Given the description of an element on the screen output the (x, y) to click on. 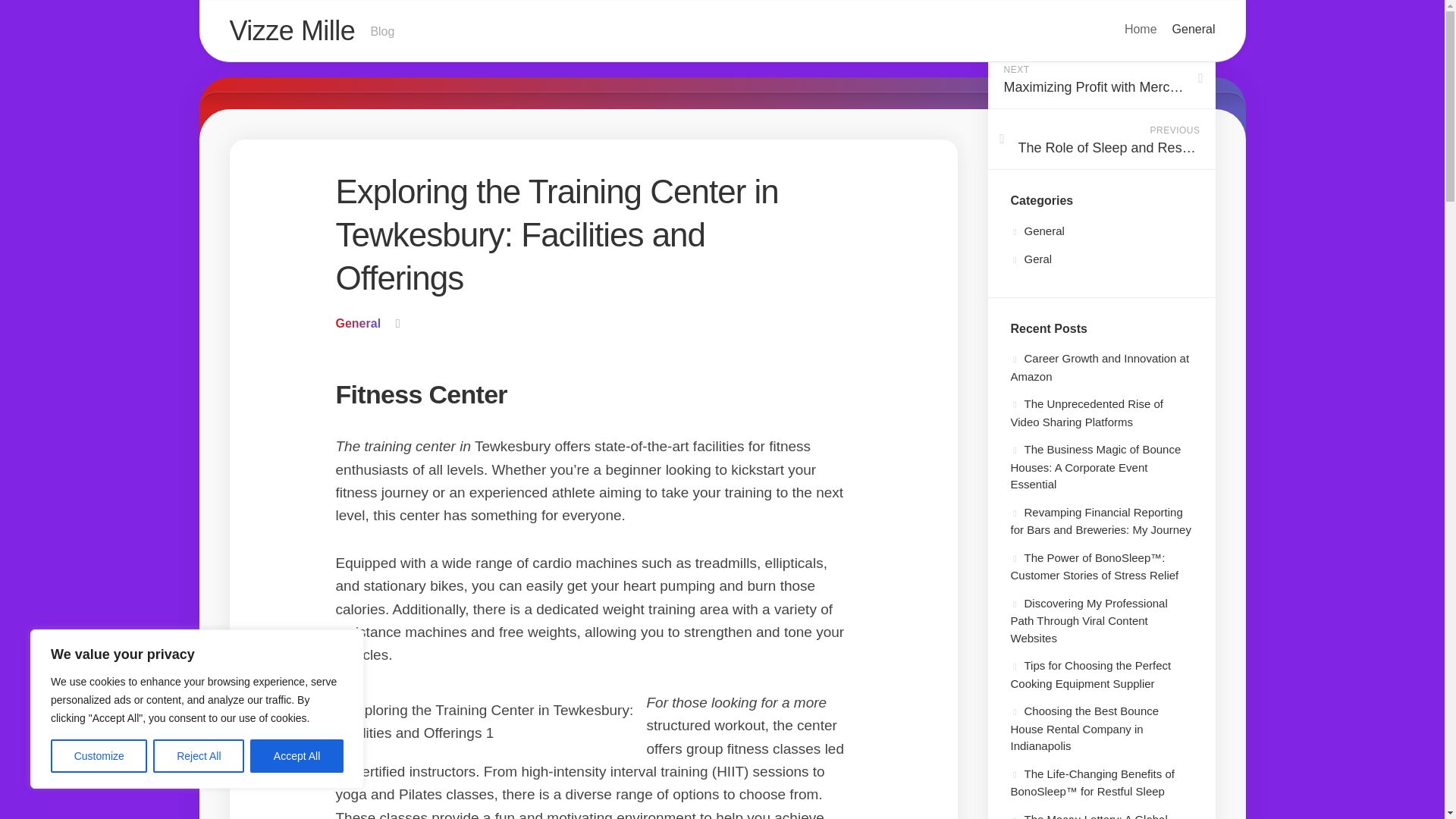
Home (1140, 29)
Accept All (296, 756)
Reject All (198, 756)
Customize (98, 756)
Vizze Mille (721, 31)
General (291, 31)
General (1193, 29)
Career Growth and Innovation at Amazon (357, 323)
